Given the description of an element on the screen output the (x, y) to click on. 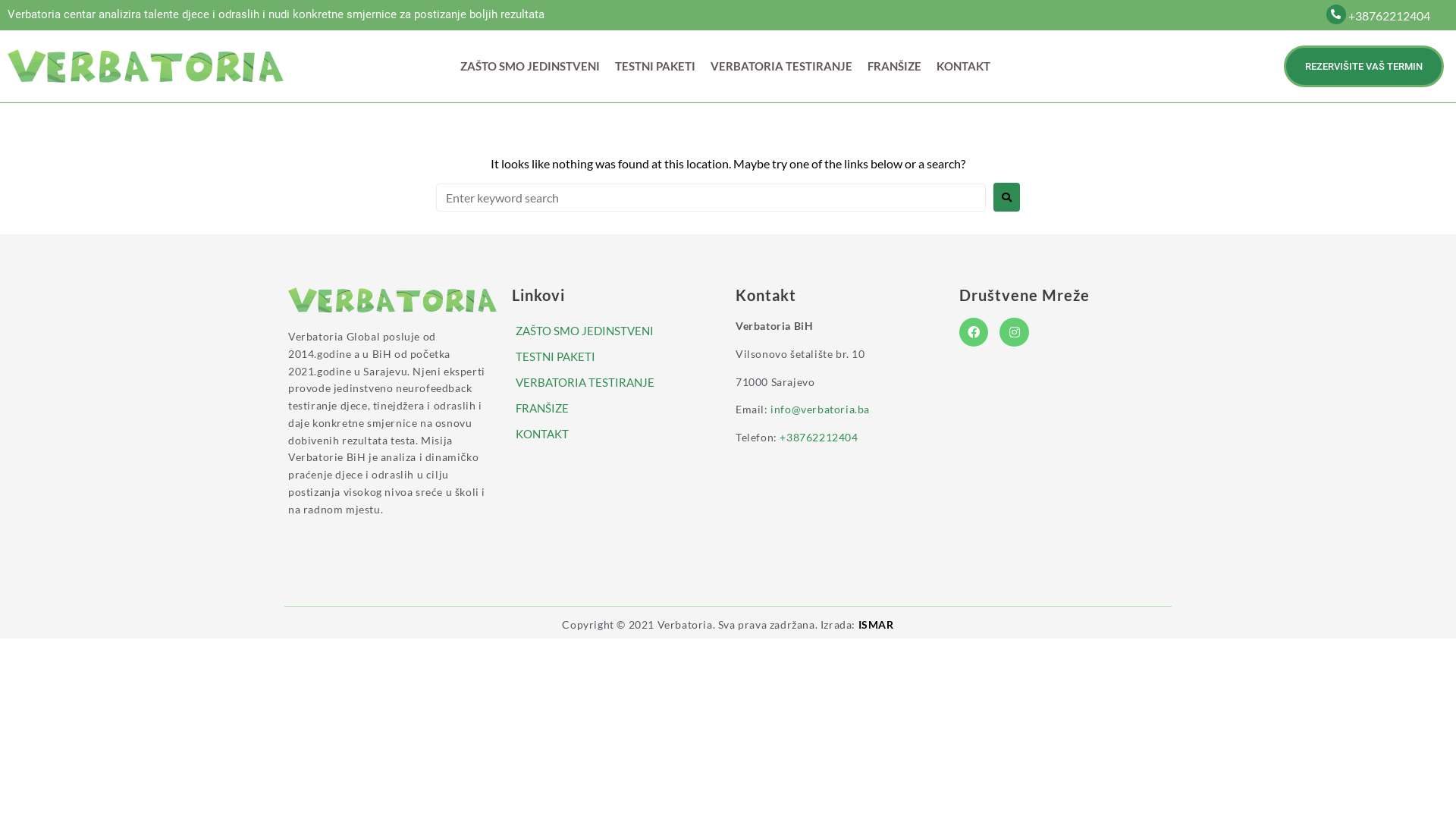
TESTNI PAKETI Element type: text (612, 356)
ISMAR Element type: text (876, 624)
info@verbatoria.ba Element type: text (819, 408)
+38762212404 Element type: text (1389, 14)
VERBATORIA TESTIRANJE Element type: text (612, 382)
+38762212404 Element type: text (818, 436)
KONTAKT Element type: text (963, 65)
KONTAKT Element type: text (612, 433)
VERBATORIA TESTIRANJE Element type: text (781, 65)
TESTNI PAKETI Element type: text (655, 65)
